Given the description of an element on the screen output the (x, y) to click on. 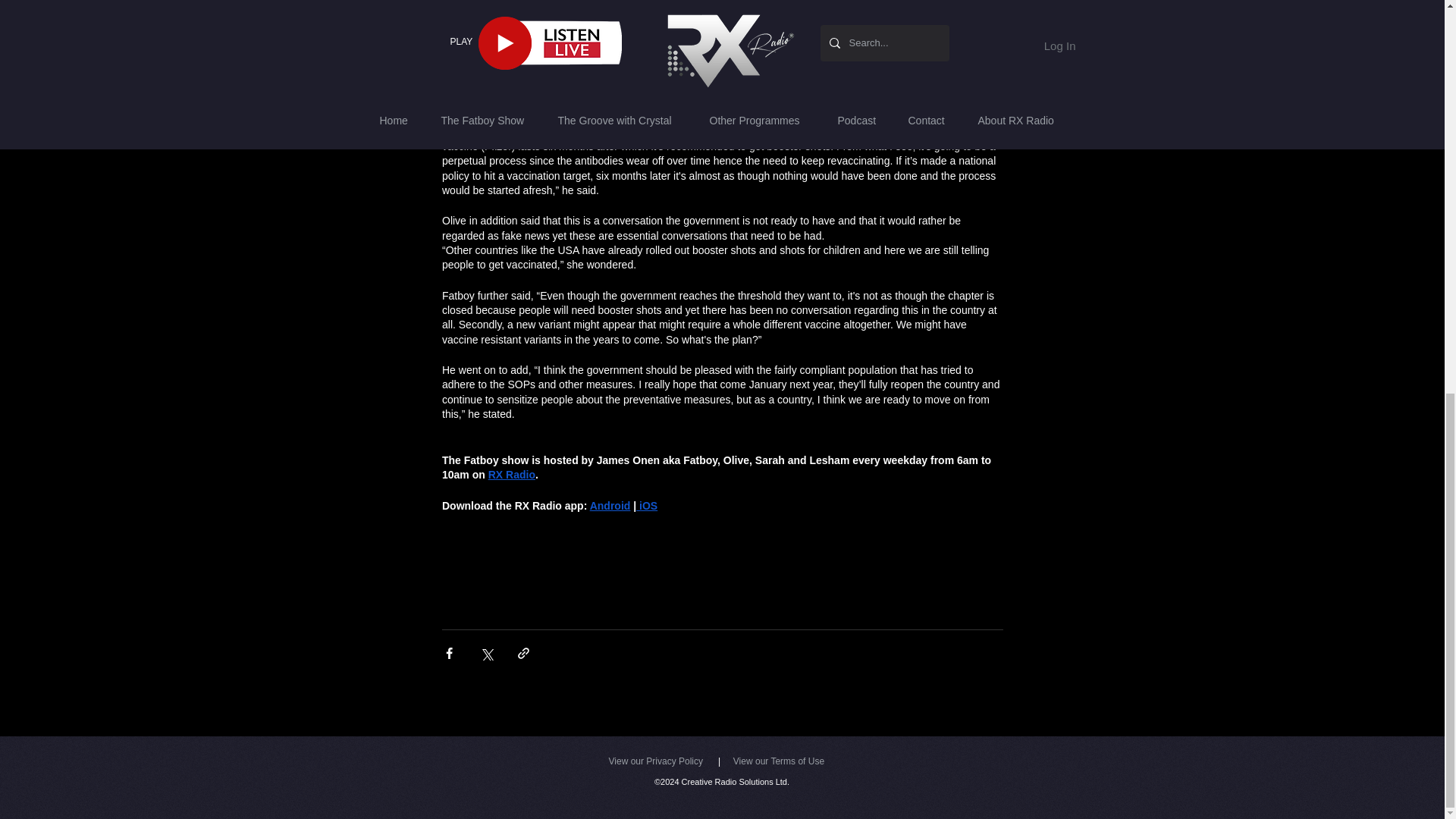
View our Privacy Policy (655, 760)
RX Radio (510, 474)
 iOS (647, 505)
View our Terms of Use (778, 760)
Android (609, 505)
